Given the description of an element on the screen output the (x, y) to click on. 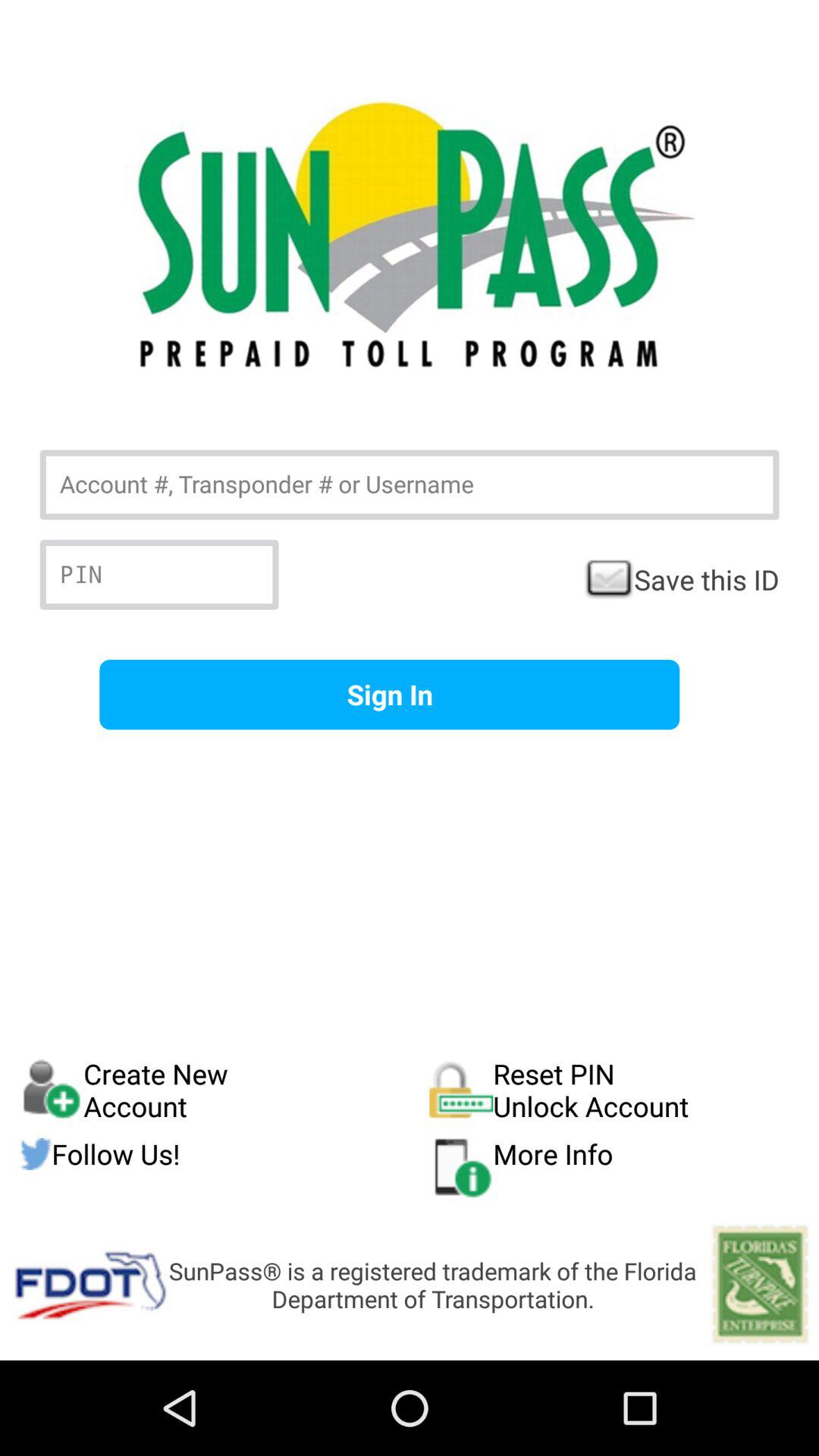
launch the icon below the sign in item (614, 1089)
